Given the description of an element on the screen output the (x, y) to click on. 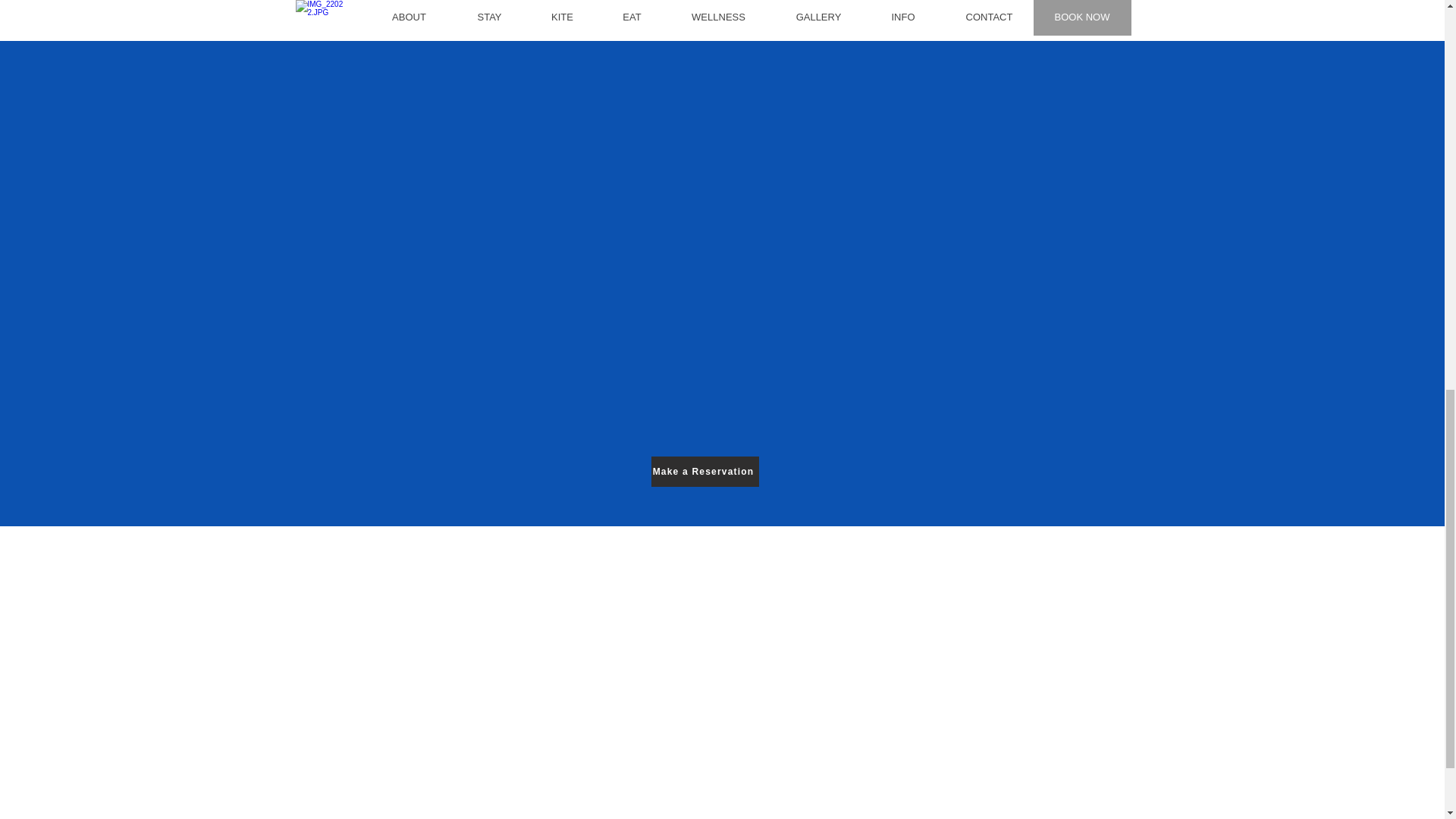
Make a Reservation (704, 471)
